Given the description of an element on the screen output the (x, y) to click on. 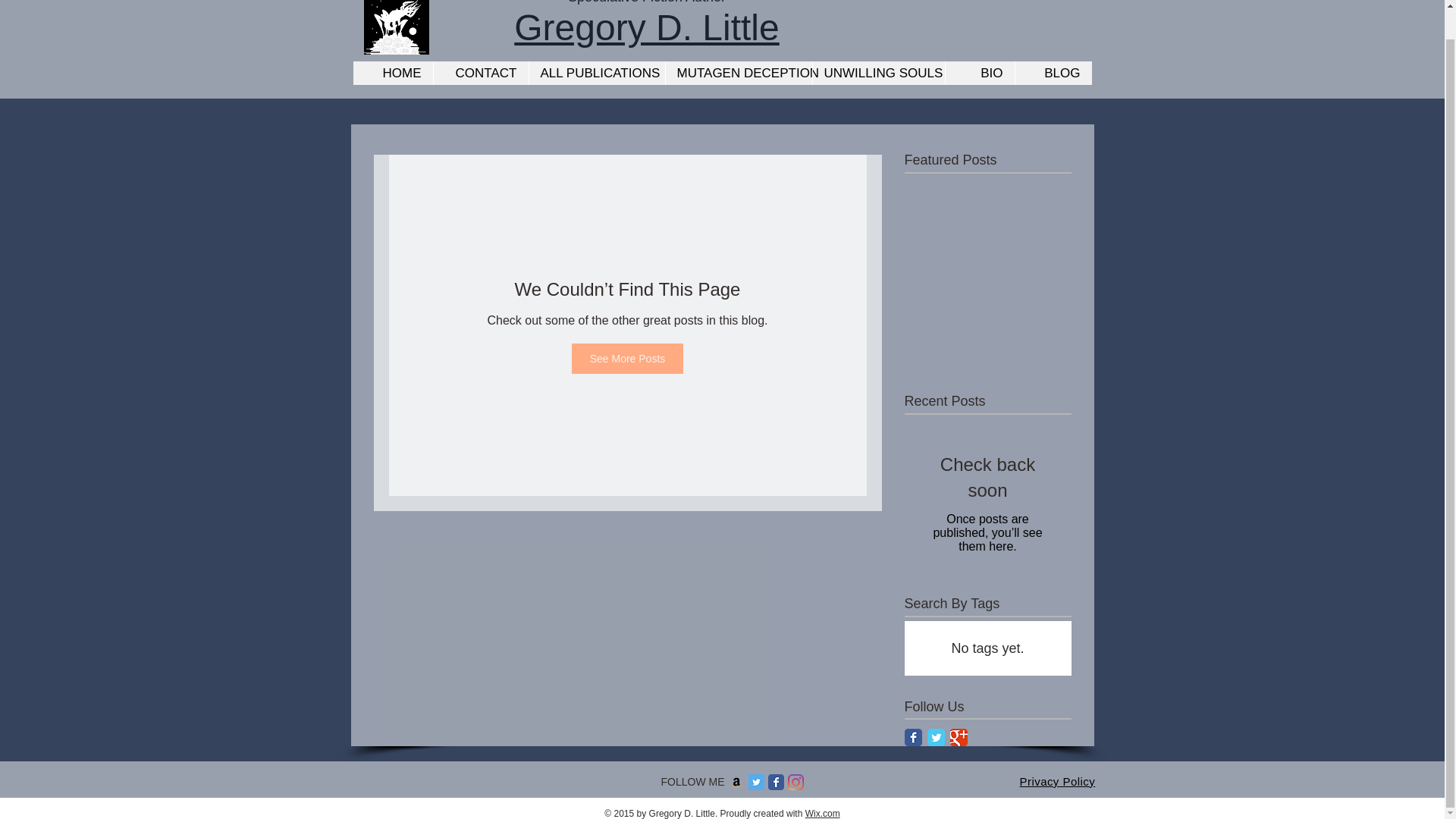
HOME (392, 73)
See More Posts (628, 358)
Privacy Policy (1056, 780)
CONTACT (479, 73)
MUTAGEN DECEPTION (736, 73)
Gregory D. Little (645, 27)
BIO (979, 73)
ALL PUBLICATIONS (595, 73)
UNWILLING SOULS (876, 73)
BLOG (1053, 73)
